Given the description of an element on the screen output the (x, y) to click on. 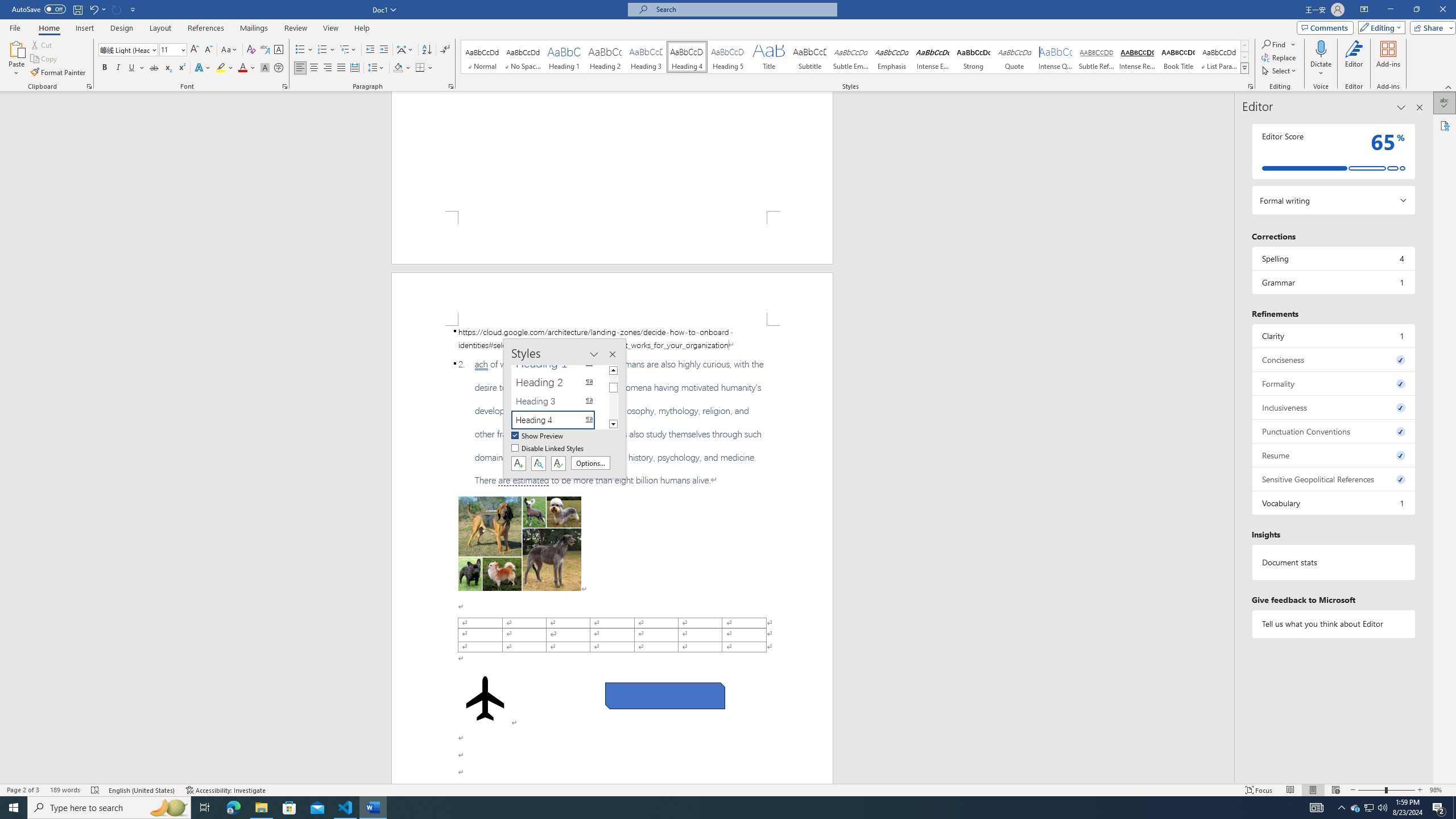
Task Pane Options (1400, 107)
Decrease Indent (370, 49)
Formality, 0 issues. Press space or enter to review items. (1333, 383)
Find (1278, 44)
Options... (590, 463)
Editing (1379, 27)
Subscript (167, 67)
Home (48, 28)
Help (361, 28)
Class: MsoCommandBar (728, 789)
Align Left (300, 67)
Underline (131, 67)
Document statistics (1333, 561)
Heading 2 (605, 56)
Customize Quick Access Toolbar (133, 9)
